Given the description of an element on the screen output the (x, y) to click on. 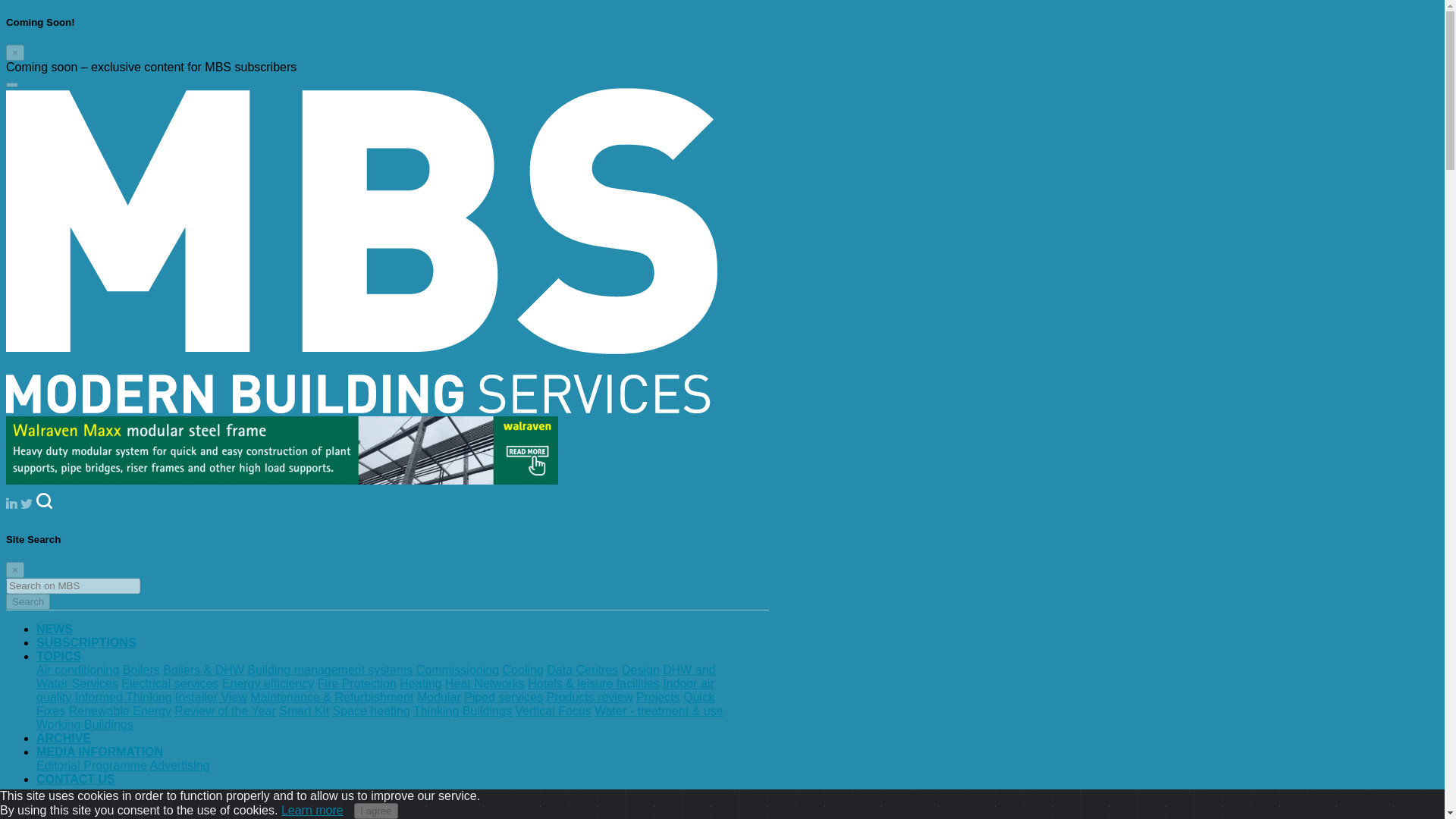
Review of the Year (224, 710)
Products review (590, 697)
Fire Protection (356, 683)
Search (27, 601)
Building management systems (329, 669)
Cooling (522, 669)
Electrical services (169, 683)
Quick Fixes (375, 704)
NEWS (54, 628)
Installer View (210, 697)
TOPICS (58, 656)
SUBSCRIPTIONS (86, 642)
Smart Kit (304, 710)
Heating (419, 683)
Air conditioning (77, 669)
